Given the description of an element on the screen output the (x, y) to click on. 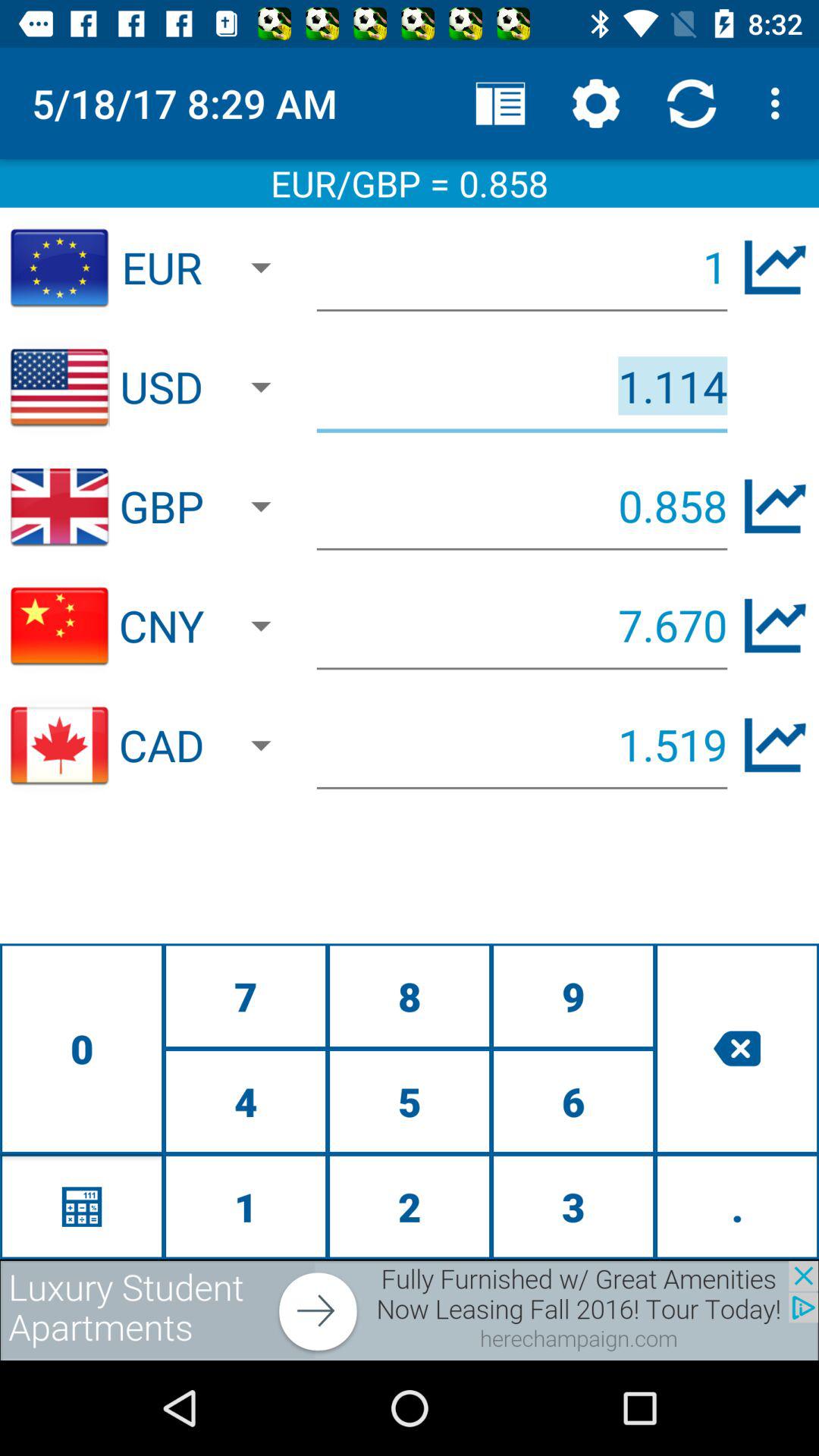
gbp (775, 506)
